Given the description of an element on the screen output the (x, y) to click on. 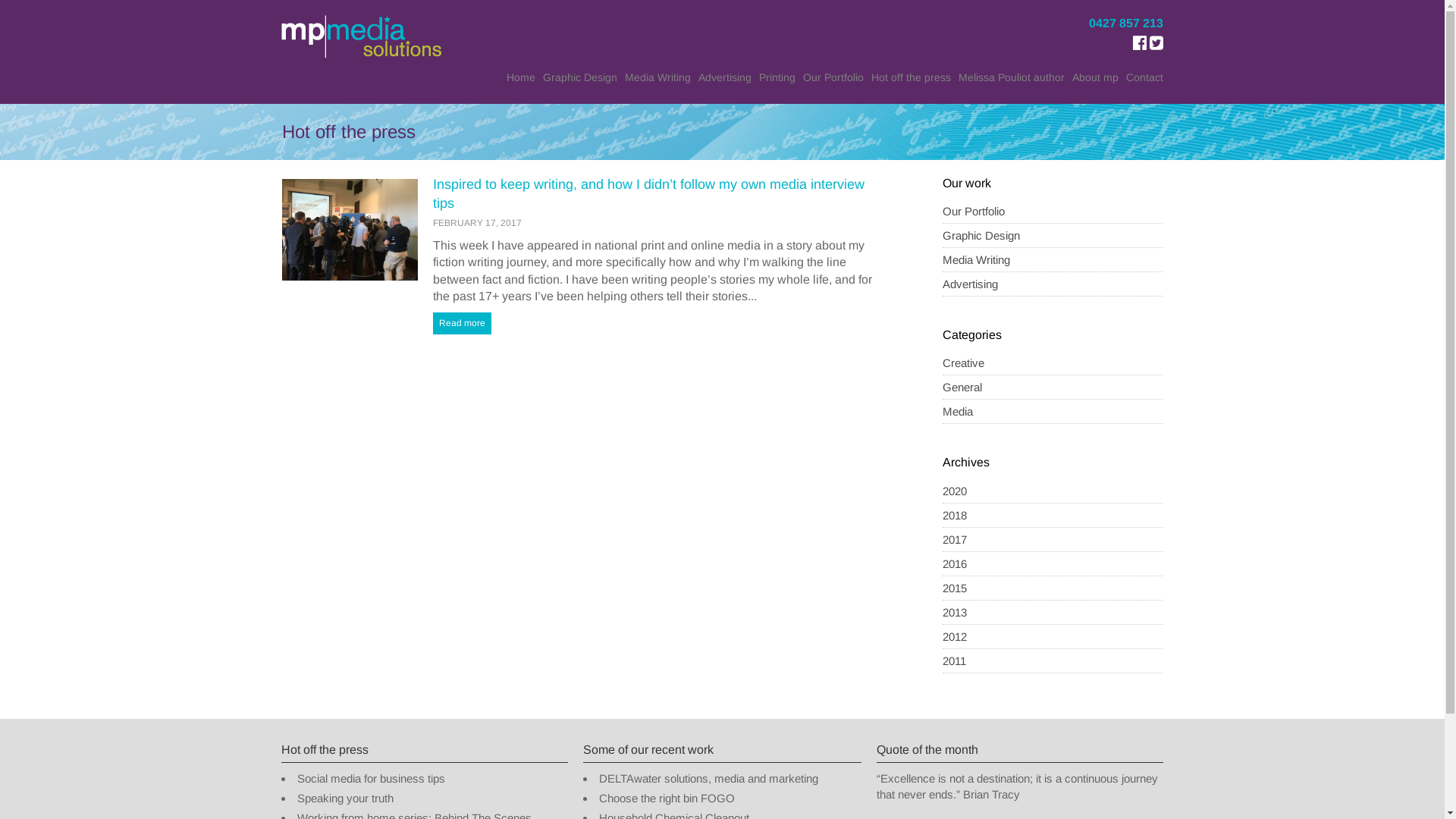
Media Element type: text (957, 410)
Hot off the press Element type: text (910, 76)
Media Writing Element type: text (976, 259)
Creative Element type: text (963, 362)
Contact Element type: text (1144, 76)
General Element type: text (962, 386)
2018 Element type: text (954, 514)
Advertising Element type: text (1052, 284)
Advertising Element type: text (969, 283)
Our Portfolio Element type: text (973, 210)
2016 Element type: text (954, 563)
Melissa Pouliot author Element type: text (1011, 76)
About mp Element type: text (1095, 76)
Graphic Design Element type: text (980, 235)
Media Writing Element type: text (1052, 259)
Speaking your truth Element type: text (345, 798)
Graphic Design Element type: text (1052, 235)
Advertising Element type: text (724, 76)
Graphic Design Element type: text (579, 76)
2017 Element type: text (954, 539)
DELTAwater solutions, media and marketing Element type: text (708, 778)
Media Writing Element type: text (657, 76)
2020 Element type: text (954, 490)
Our Portfolio Element type: text (1052, 211)
Read more Element type: text (462, 322)
Social media for business tips Element type: text (371, 778)
2015 Element type: text (954, 587)
Printing Element type: text (777, 76)
2013 Element type: text (954, 611)
Our Portfolio Element type: text (833, 76)
2012 Element type: text (954, 636)
Choose the right bin FOGO Element type: text (666, 798)
Home Element type: text (520, 76)
2011 Element type: text (954, 660)
